Given the description of an element on the screen output the (x, y) to click on. 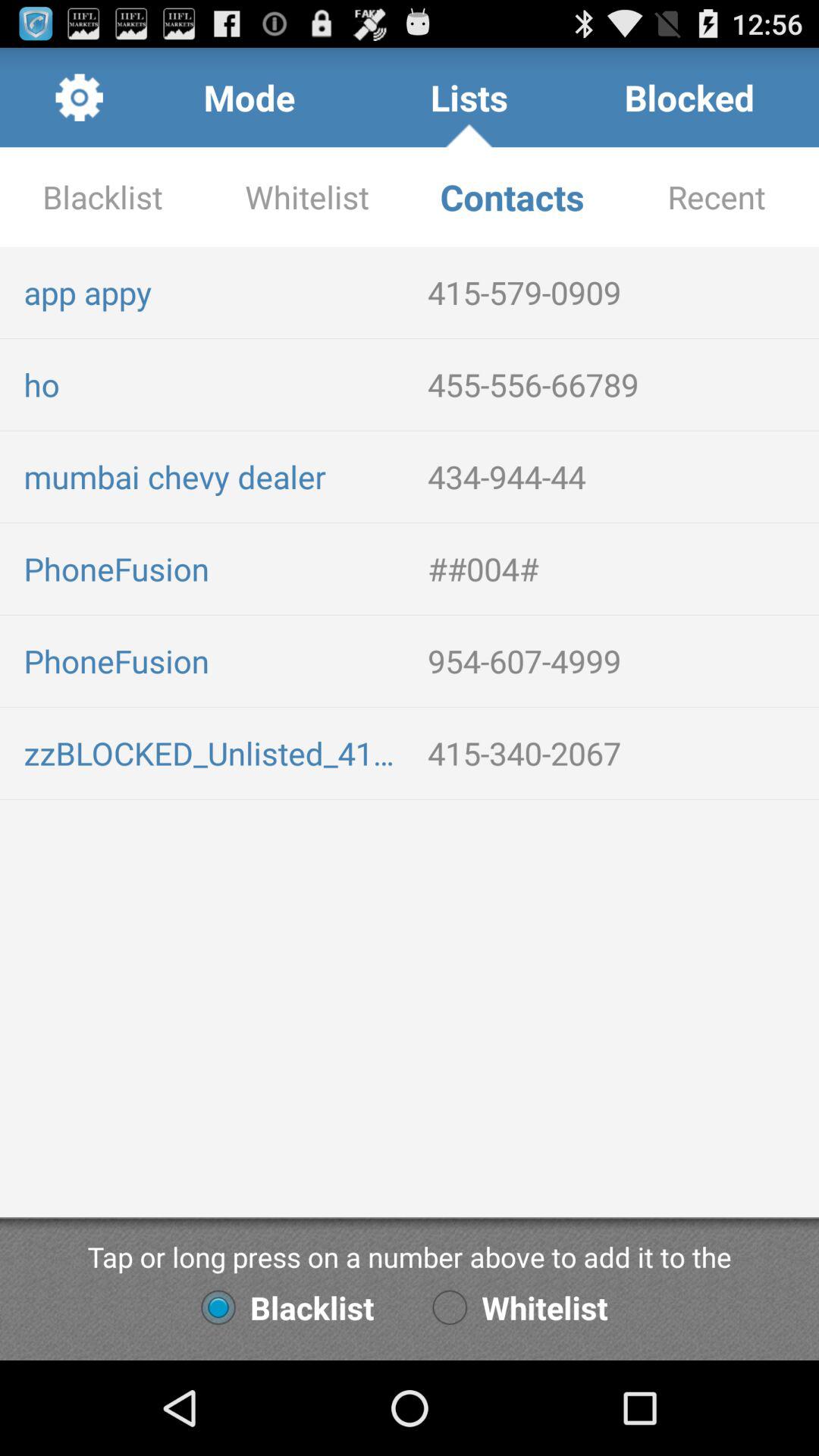
turn on the lists item (469, 97)
